Given the description of an element on the screen output the (x, y) to click on. 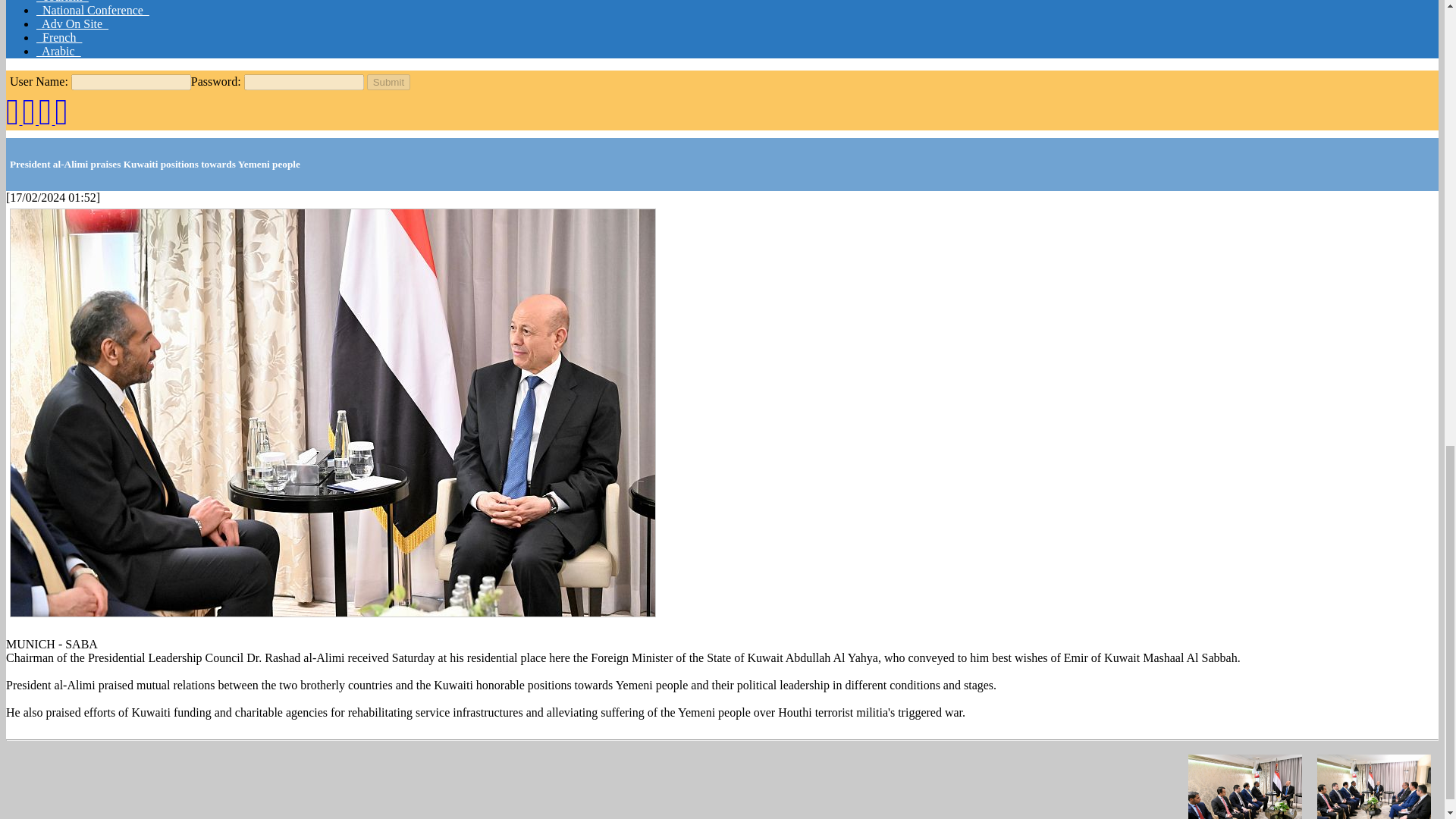
  National Conference   (92, 10)
  Arabic   (58, 51)
Submit (388, 82)
  Tourism   (62, 1)
  French   (58, 37)
Submit (388, 82)
  Adv On Site   (71, 23)
